Given the description of an element on the screen output the (x, y) to click on. 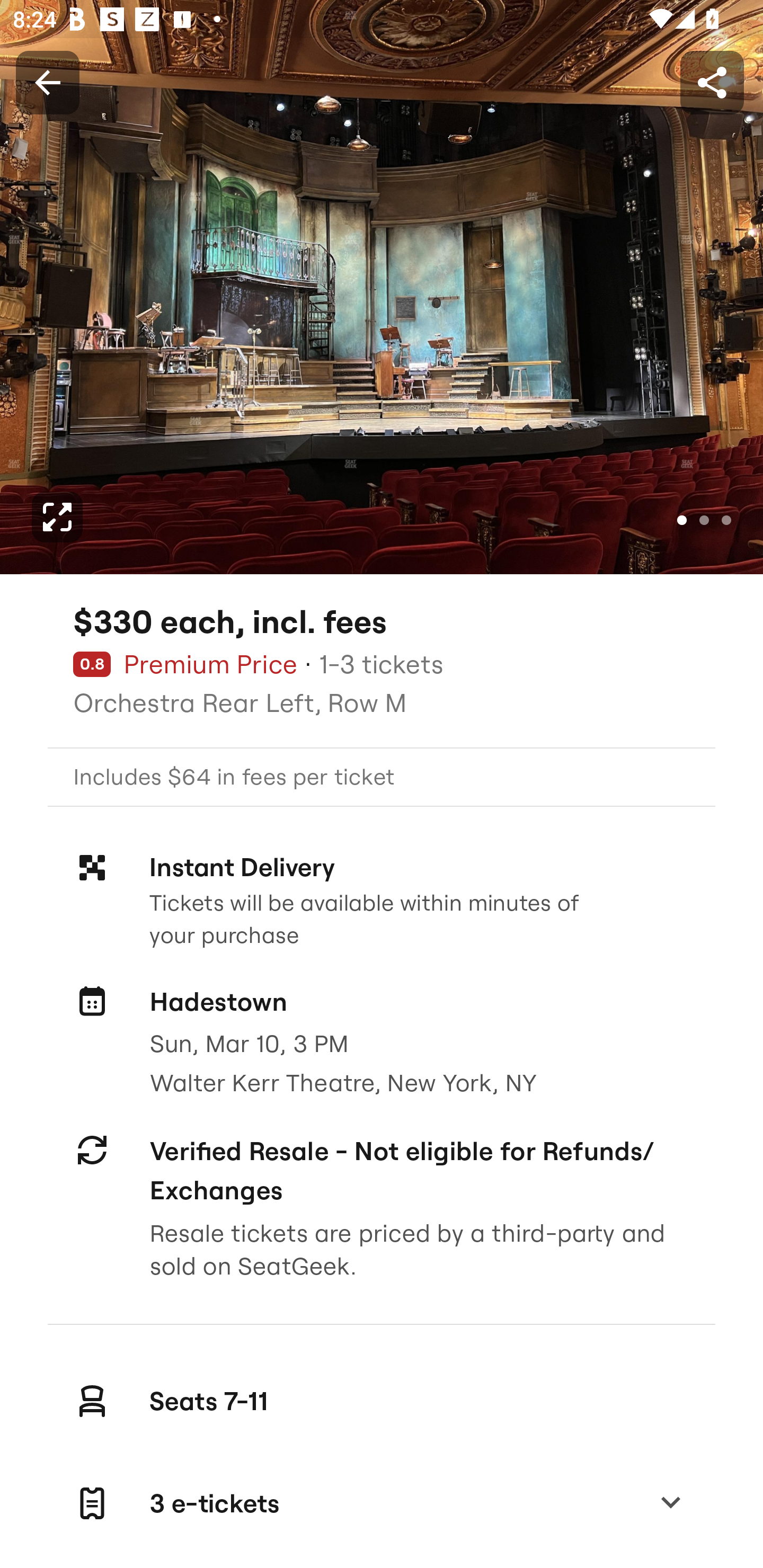
Back (47, 81)
Share (711, 81)
Expand image to fullscreen (57, 517)
Seats 7-11 (381, 1400)
3 e-tickets Expand to show options (381, 1503)
